Given the description of an element on the screen output the (x, y) to click on. 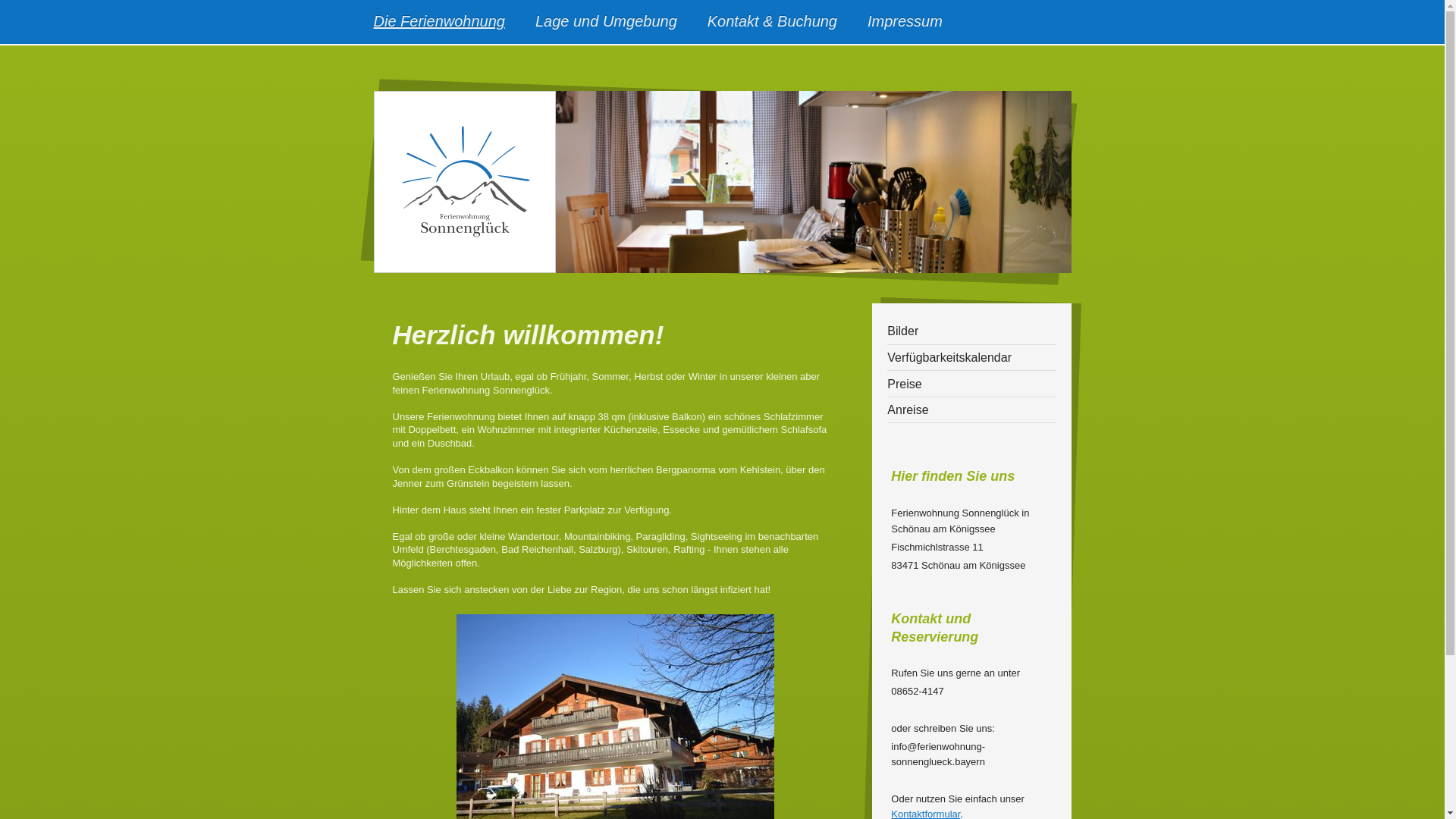
Impressum Element type: text (904, 21)
Bilder Element type: text (971, 331)
Preise Element type: text (971, 383)
Lage und Umgebung Element type: text (606, 21)
Anreise Element type: text (971, 410)
Kontakt & Buchung Element type: text (772, 21)
Die Ferienwohnung Element type: text (438, 21)
